Given the description of an element on the screen output the (x, y) to click on. 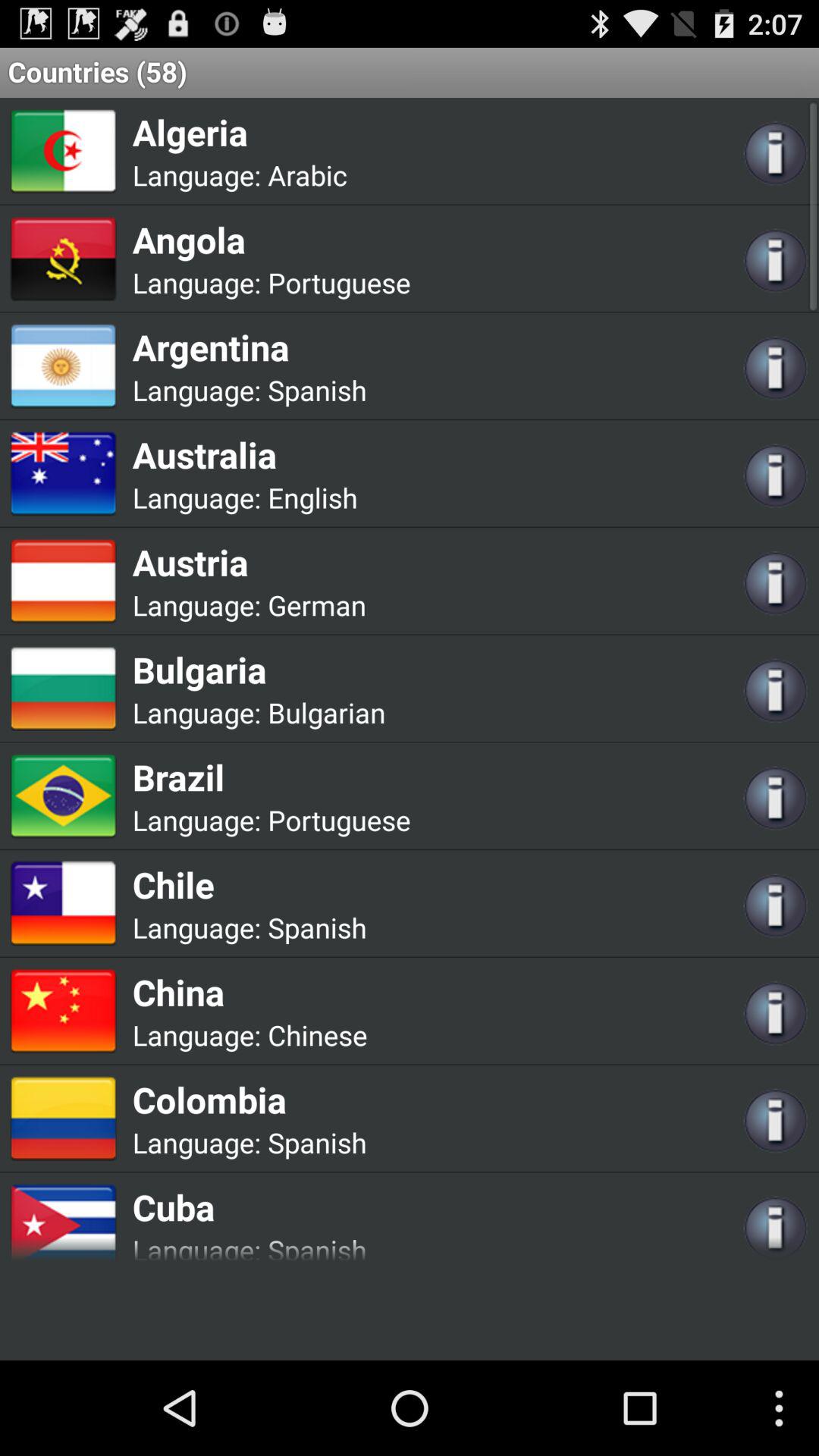
press the cuba icon (249, 1207)
